Given the description of an element on the screen output the (x, y) to click on. 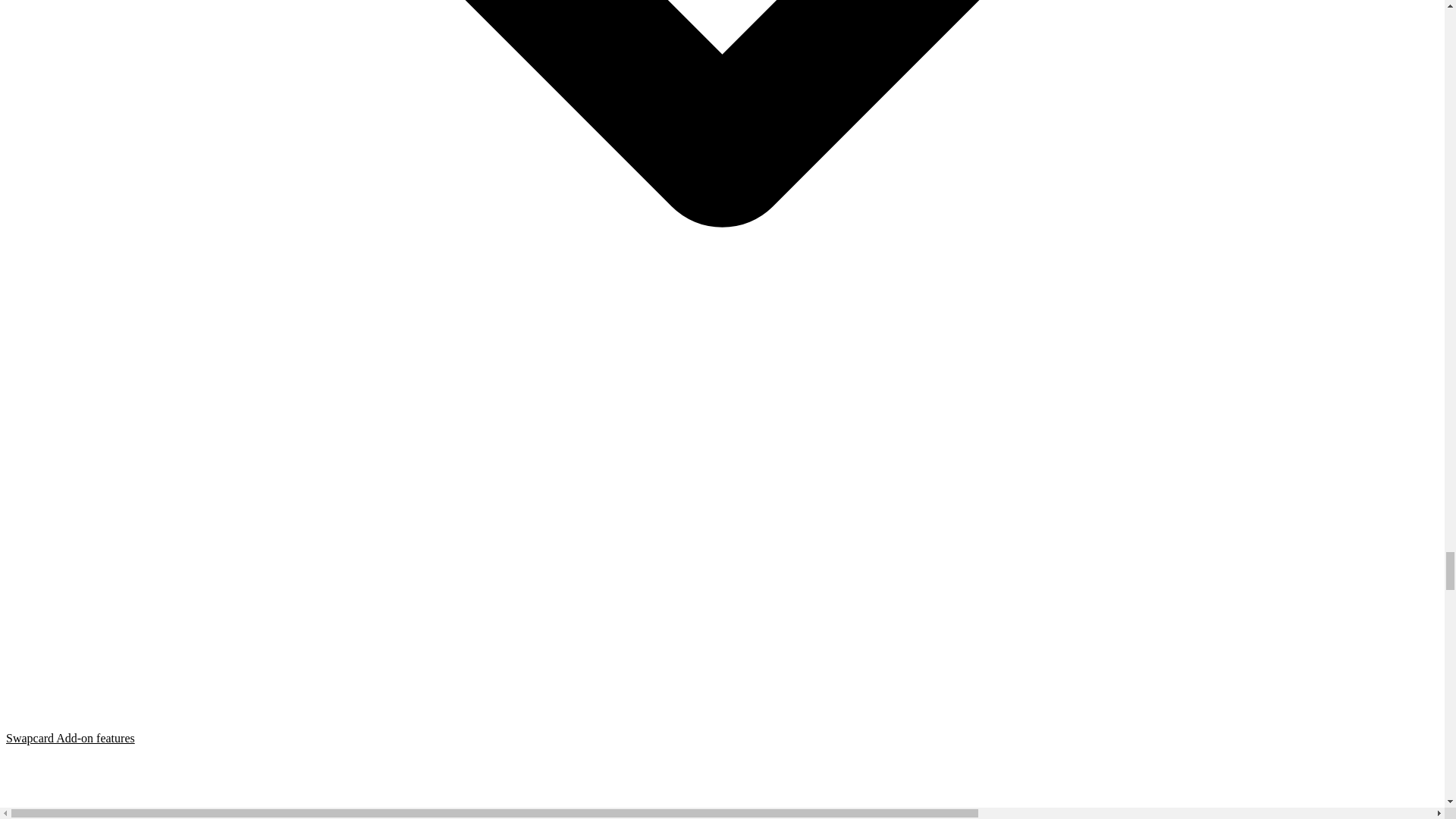
Swapcard Add-on features (721, 775)
